Given the description of an element on the screen output the (x, y) to click on. 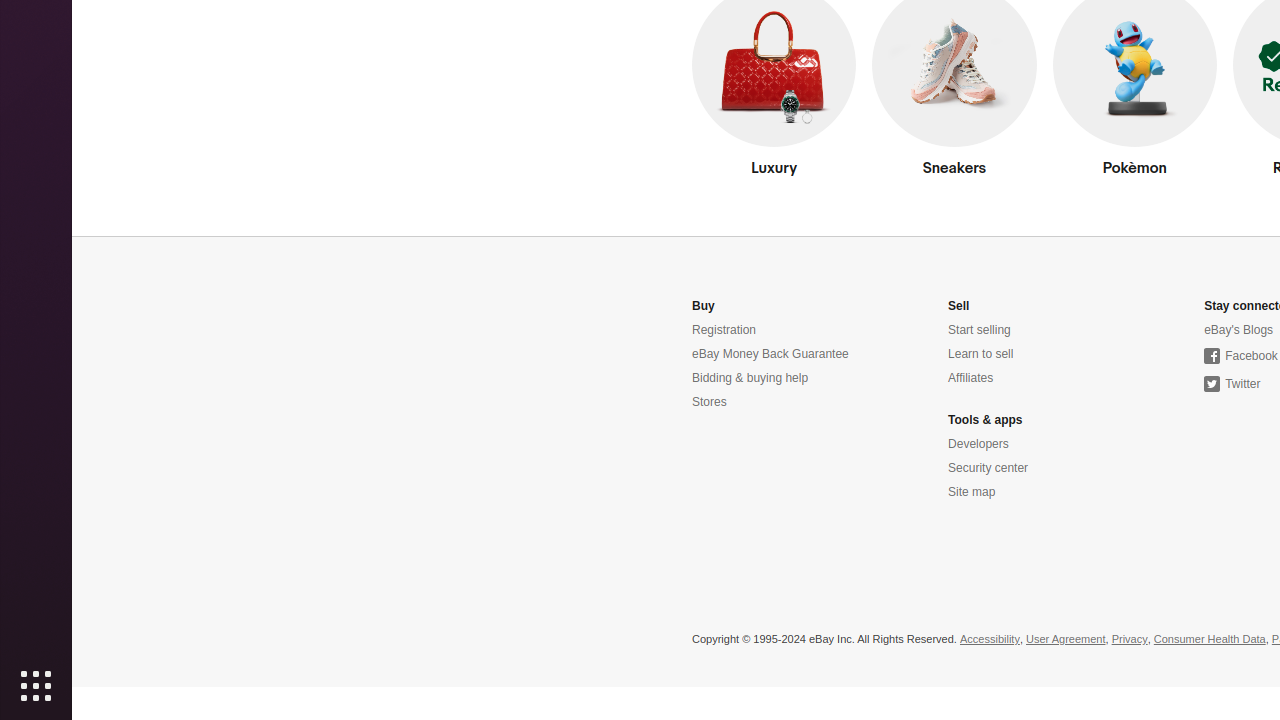
Registration Element type: link (724, 330)
Buy Element type: link (703, 306)
Accessibility Element type: link (989, 640)
Consumer Health Data Element type: link (1209, 640)
Site map Element type: link (972, 492)
